Given the description of an element on the screen output the (x, y) to click on. 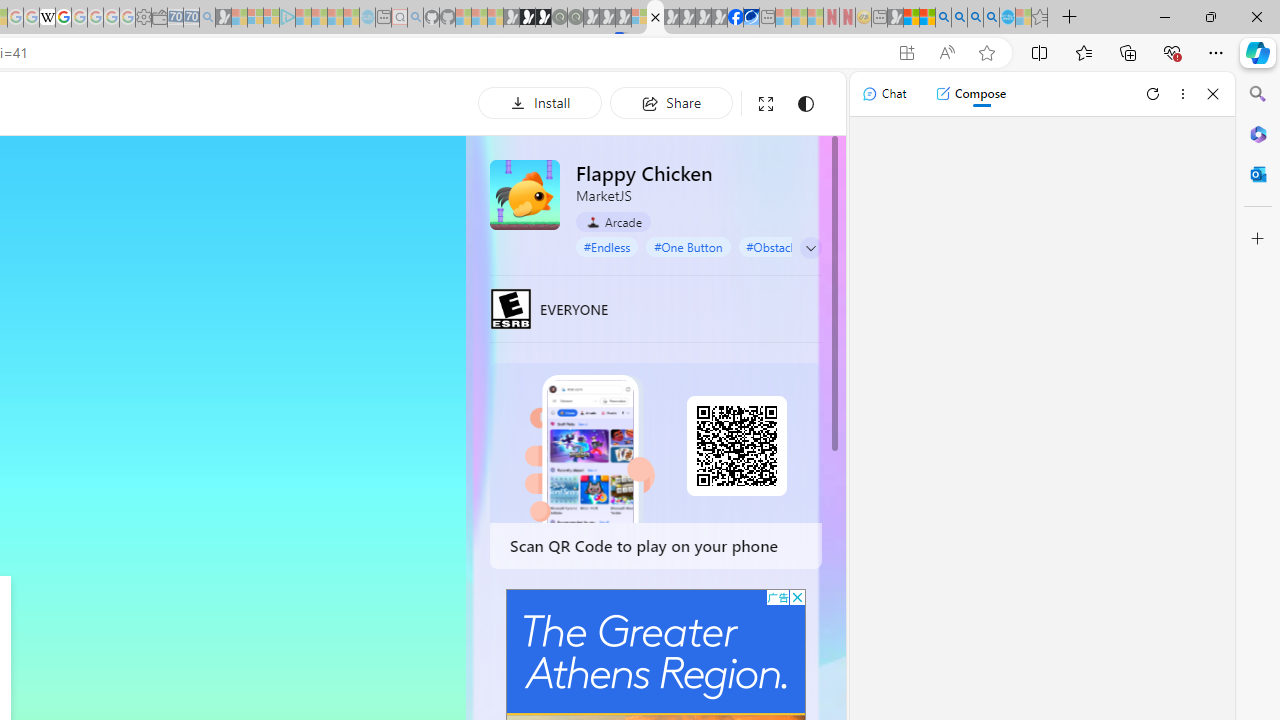
Services - Maintenance | Sky Blue Bikes - Sky Blue Bikes (1007, 17)
Arcade (613, 221)
AirNow.gov (751, 17)
Class: expand-arrow neutral (810, 247)
Change to dark mode (805, 103)
#One Button (688, 246)
